Given the description of an element on the screen output the (x, y) to click on. 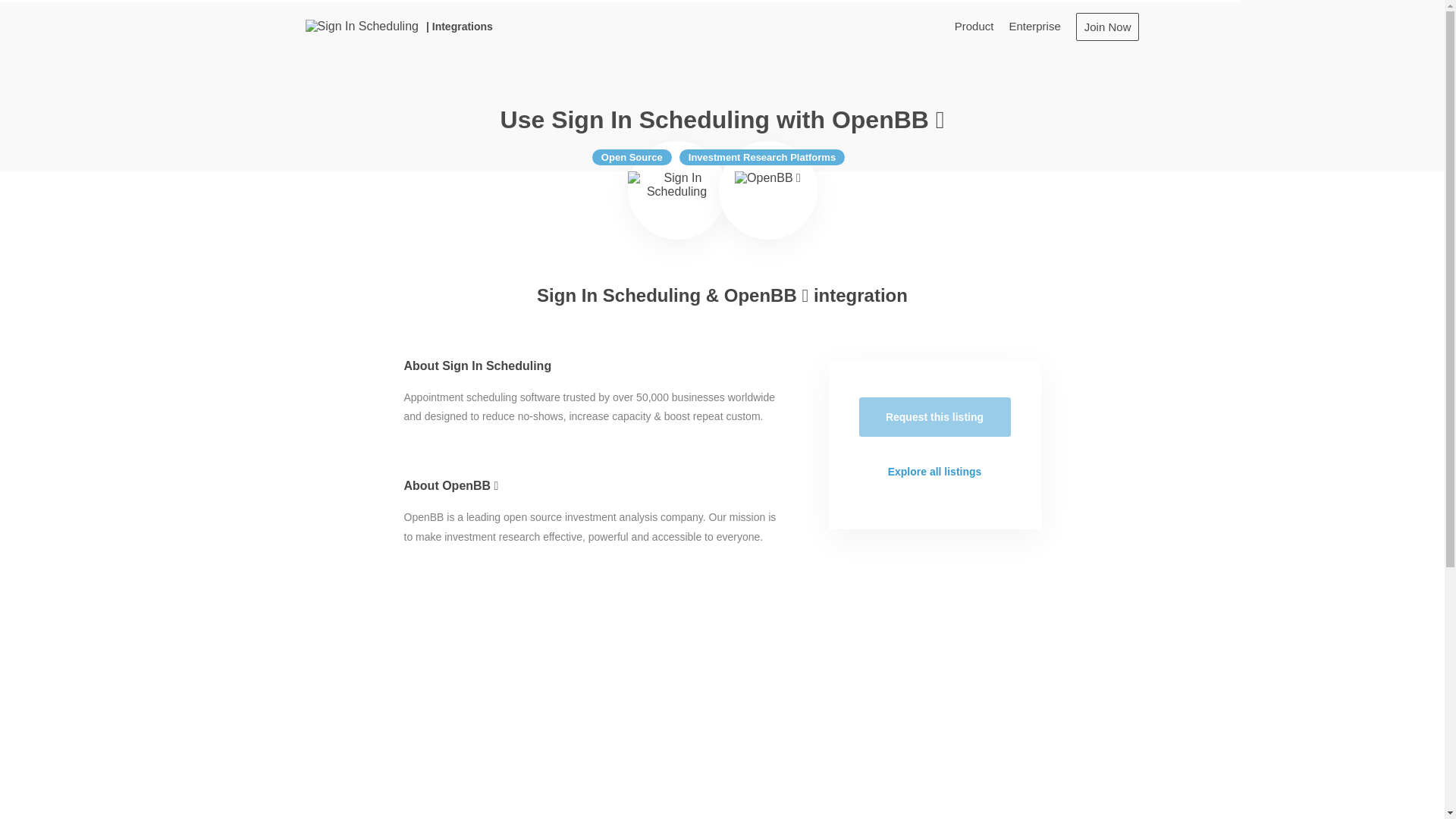
Enterprise (1034, 25)
Product (974, 25)
Sign In Scheduling (360, 26)
Sign In Scheduling (676, 190)
Request this listing (934, 416)
Explore all listings (934, 471)
Join Now (1107, 26)
